Given the description of an element on the screen output the (x, y) to click on. 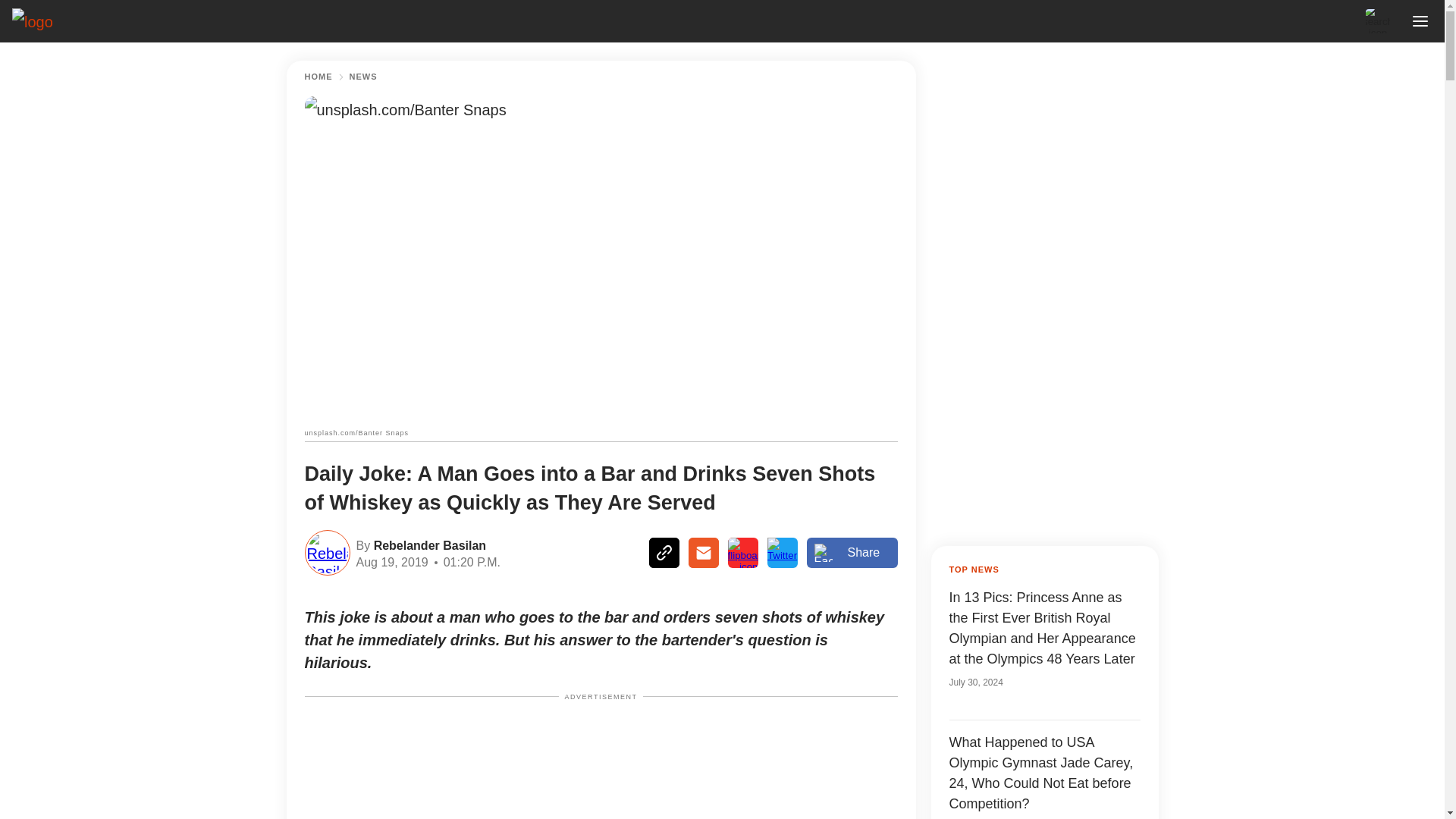
NEWS (363, 76)
HOME (318, 76)
Rebelander Basilan (427, 544)
